Given the description of an element on the screen output the (x, y) to click on. 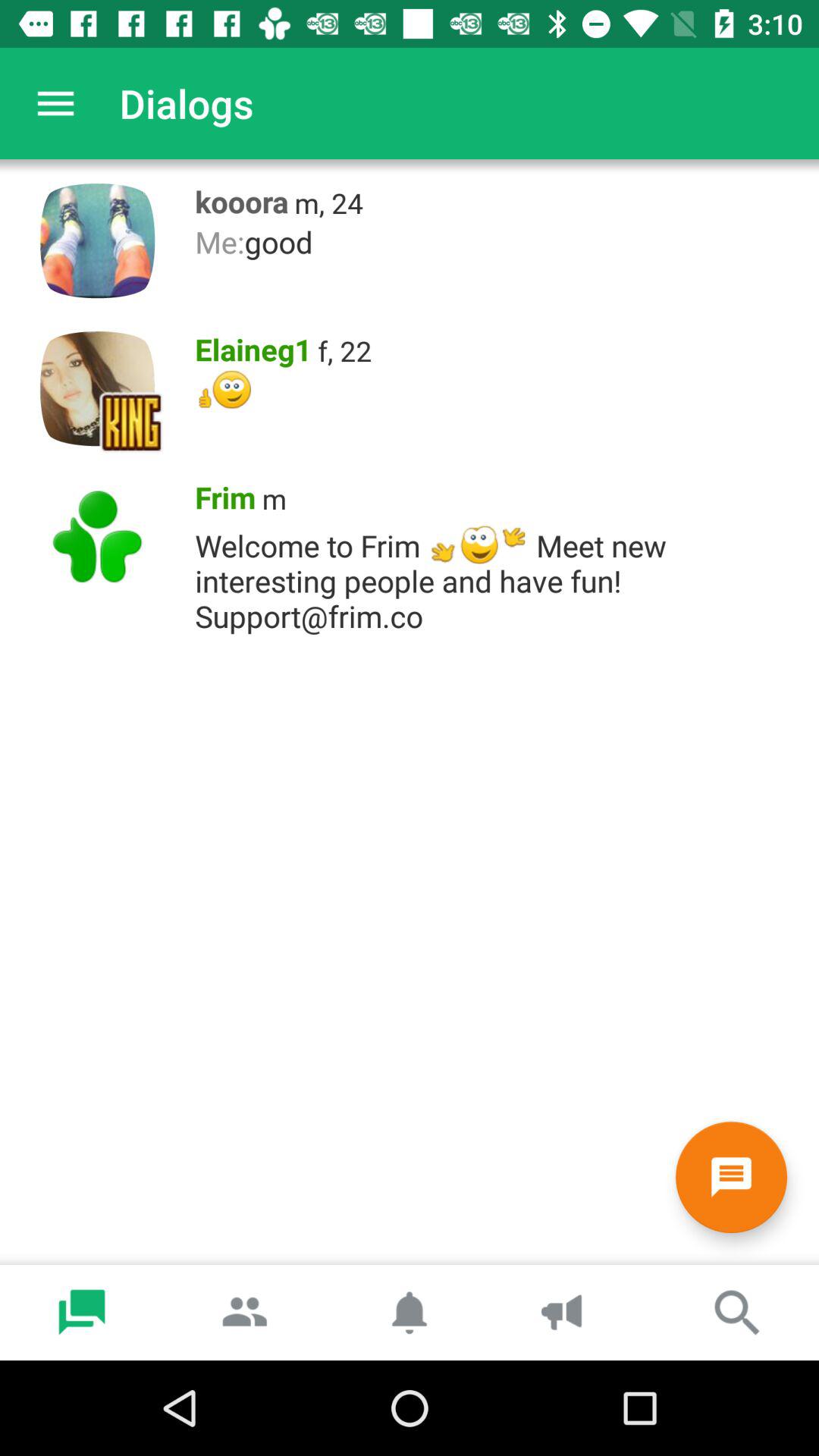
open item to the right of the elaineg1 item (344, 350)
